Given the description of an element on the screen output the (x, y) to click on. 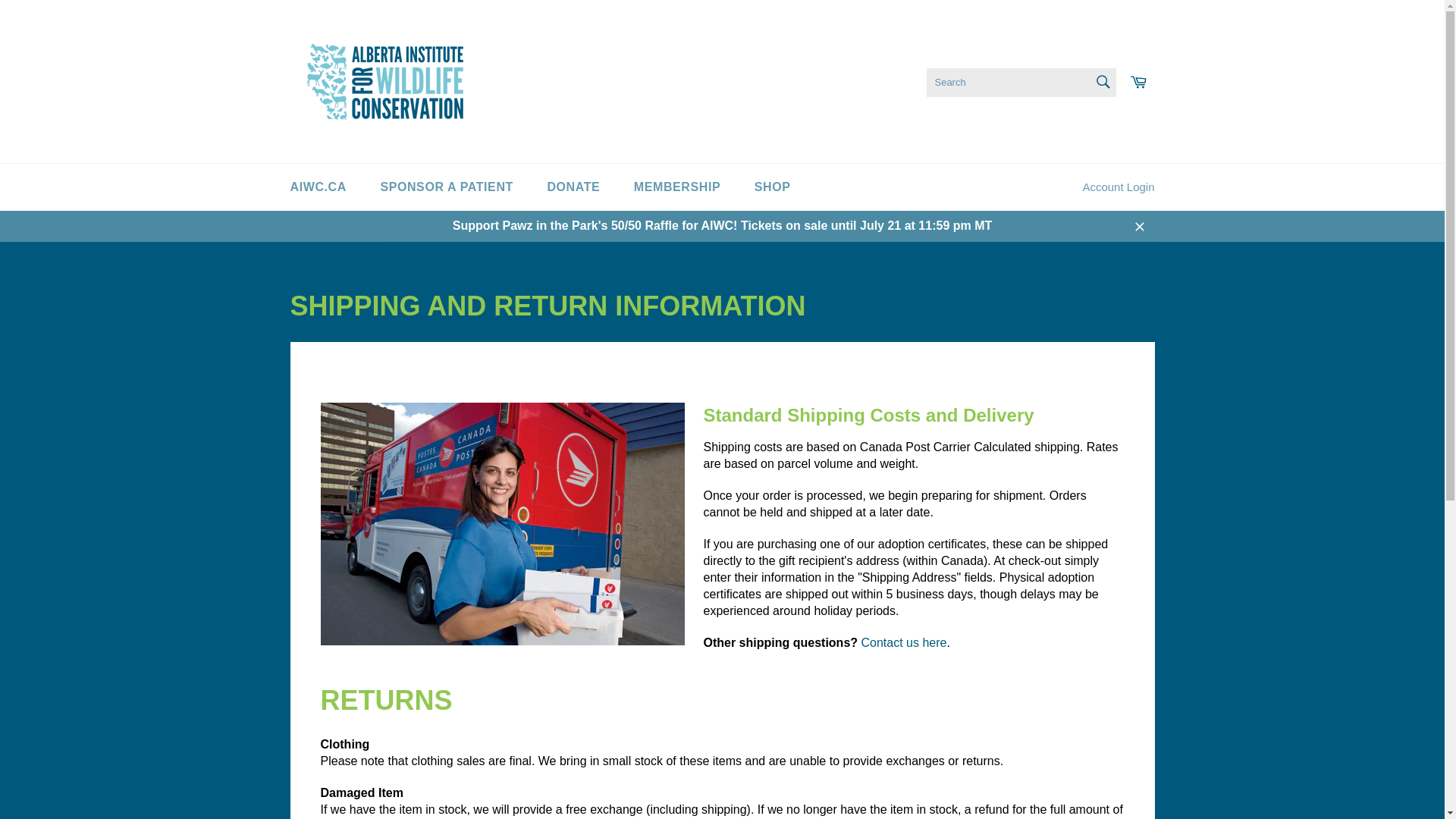
Cart (1138, 81)
Search (1103, 81)
Close (1139, 225)
AIWC.CA (318, 186)
SHOP (772, 186)
SPONSOR A PATIENT (446, 186)
Contact us here (904, 642)
Account Login (1117, 187)
MEMBERSHIP (676, 186)
DONATE (572, 186)
